Given the description of an element on the screen output the (x, y) to click on. 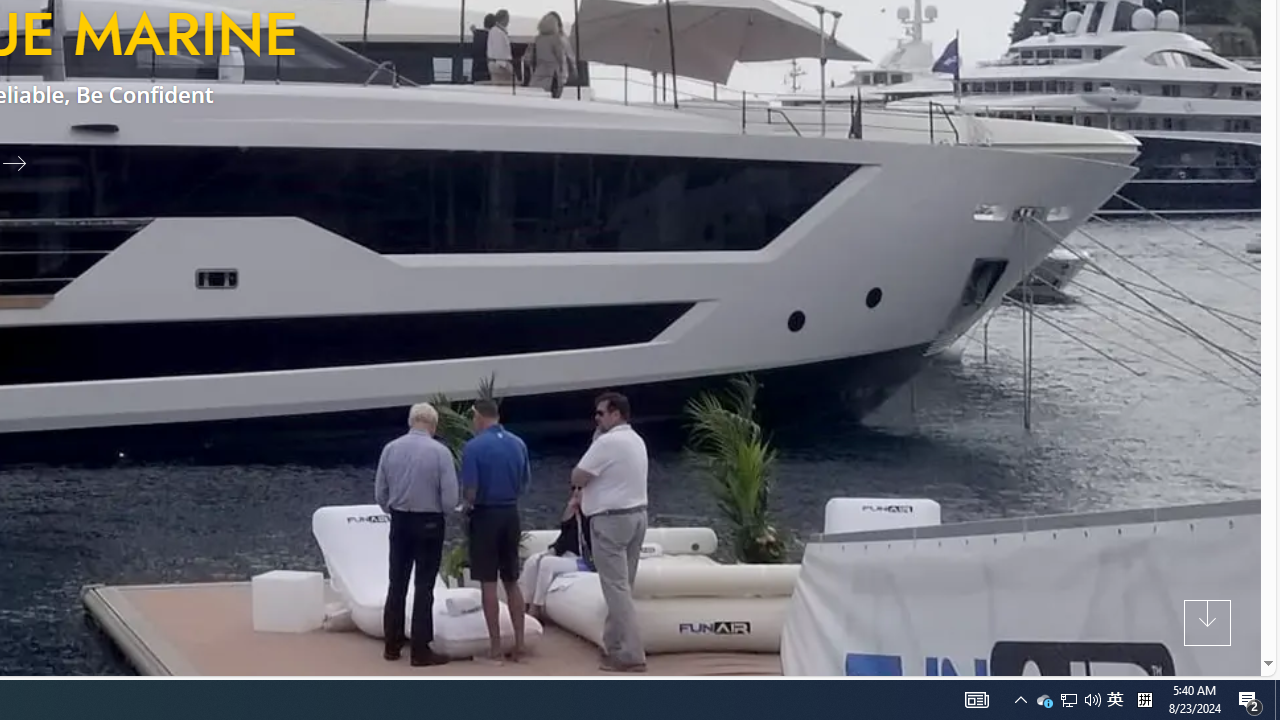
Next Slide (22, 161)
Next Section (1207, 622)
